Given the description of an element on the screen output the (x, y) to click on. 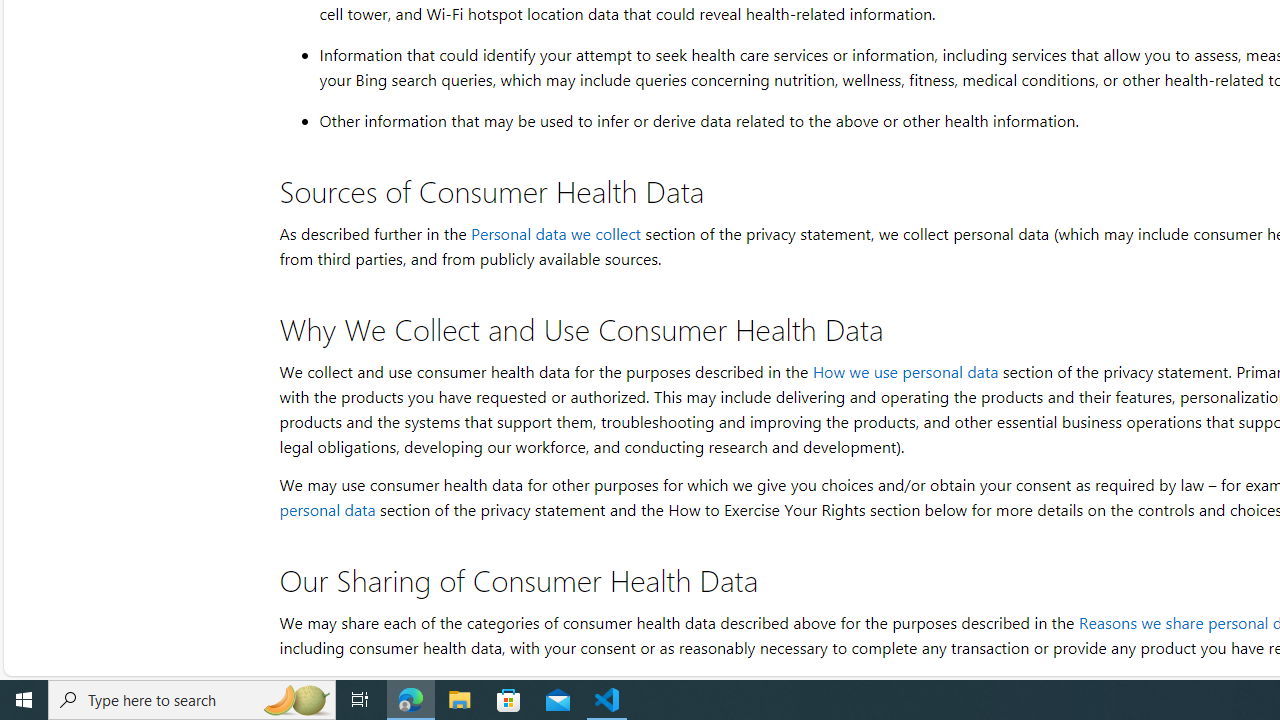
Personal data we collect (555, 233)
How we use personal data (904, 371)
